Given the description of an element on the screen output the (x, y) to click on. 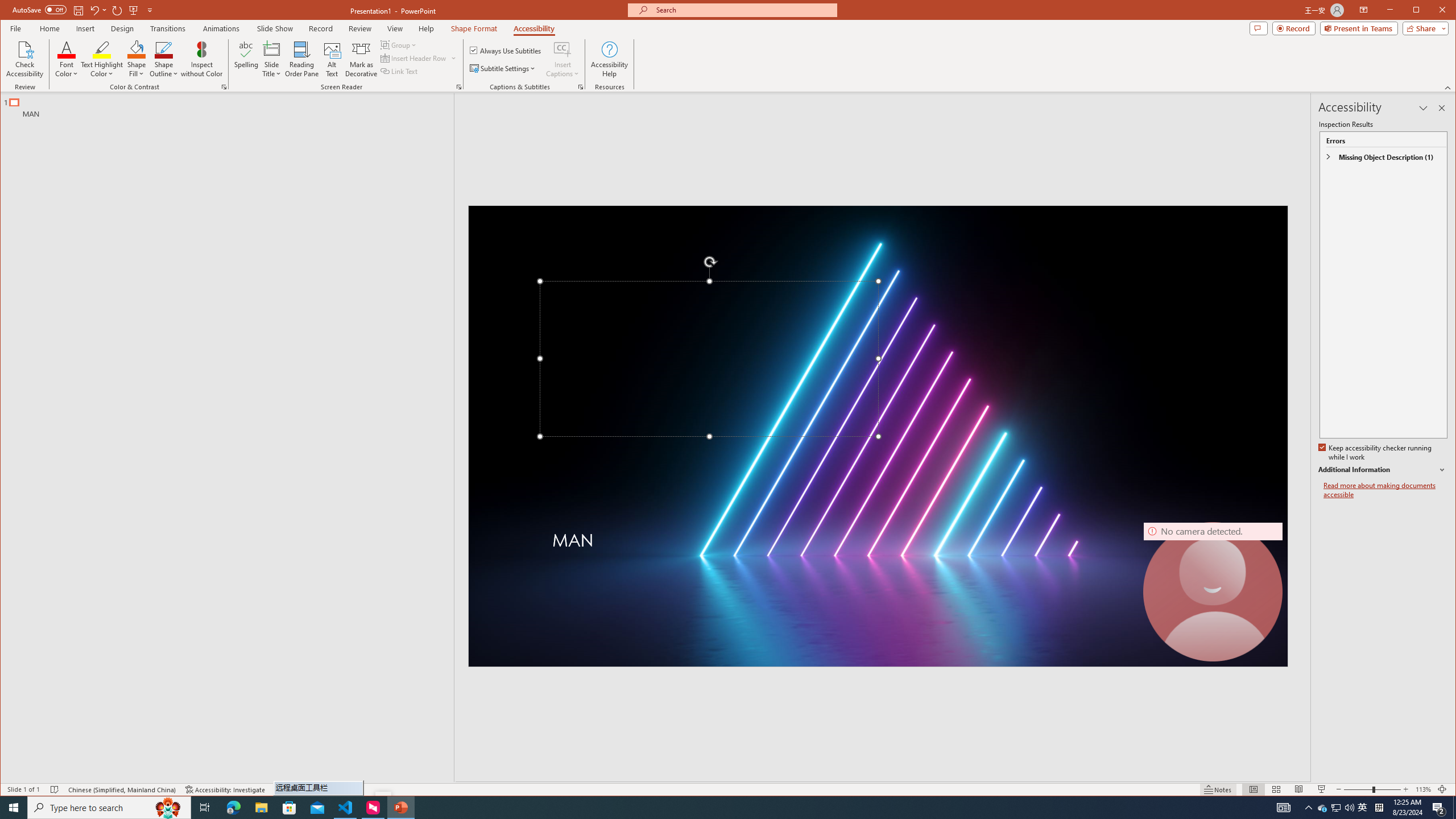
Camera 7, No camera detected. (1213, 591)
Reading Order Pane (301, 59)
Insert Captions (562, 48)
Insert Header Row (413, 57)
